Given the description of an element on the screen output the (x, y) to click on. 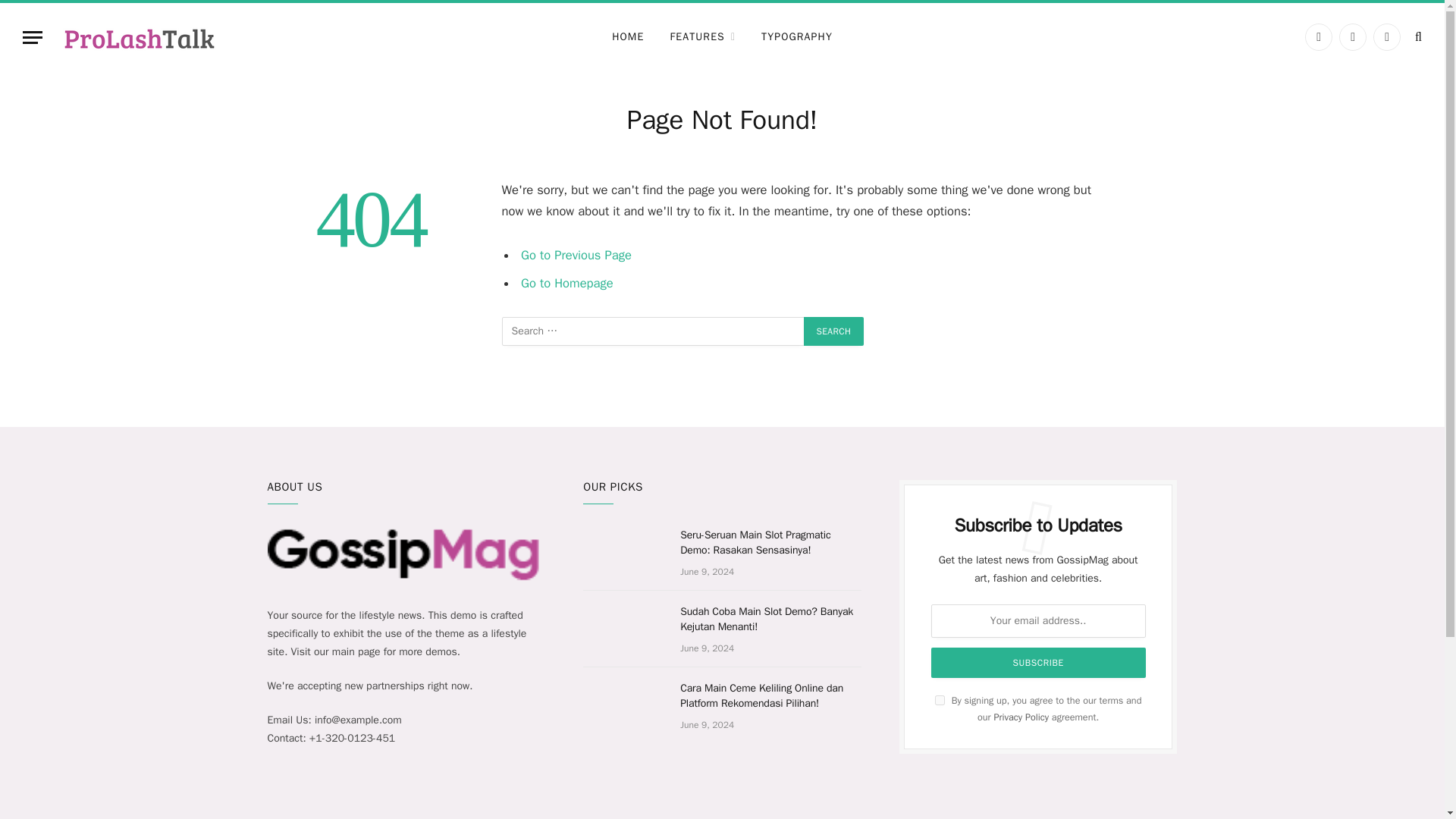
Go to Homepage (566, 282)
TYPOGRAPHY (796, 37)
Go to Previous Page (576, 254)
Subscribe (1038, 662)
Instagram (1386, 36)
Search (833, 330)
Search (833, 330)
Twitter (1353, 36)
Sudah Coba Main Slot Demo? Banyak Kejutan Menanti! (770, 619)
Prolashtalk (138, 36)
